Given the description of an element on the screen output the (x, y) to click on. 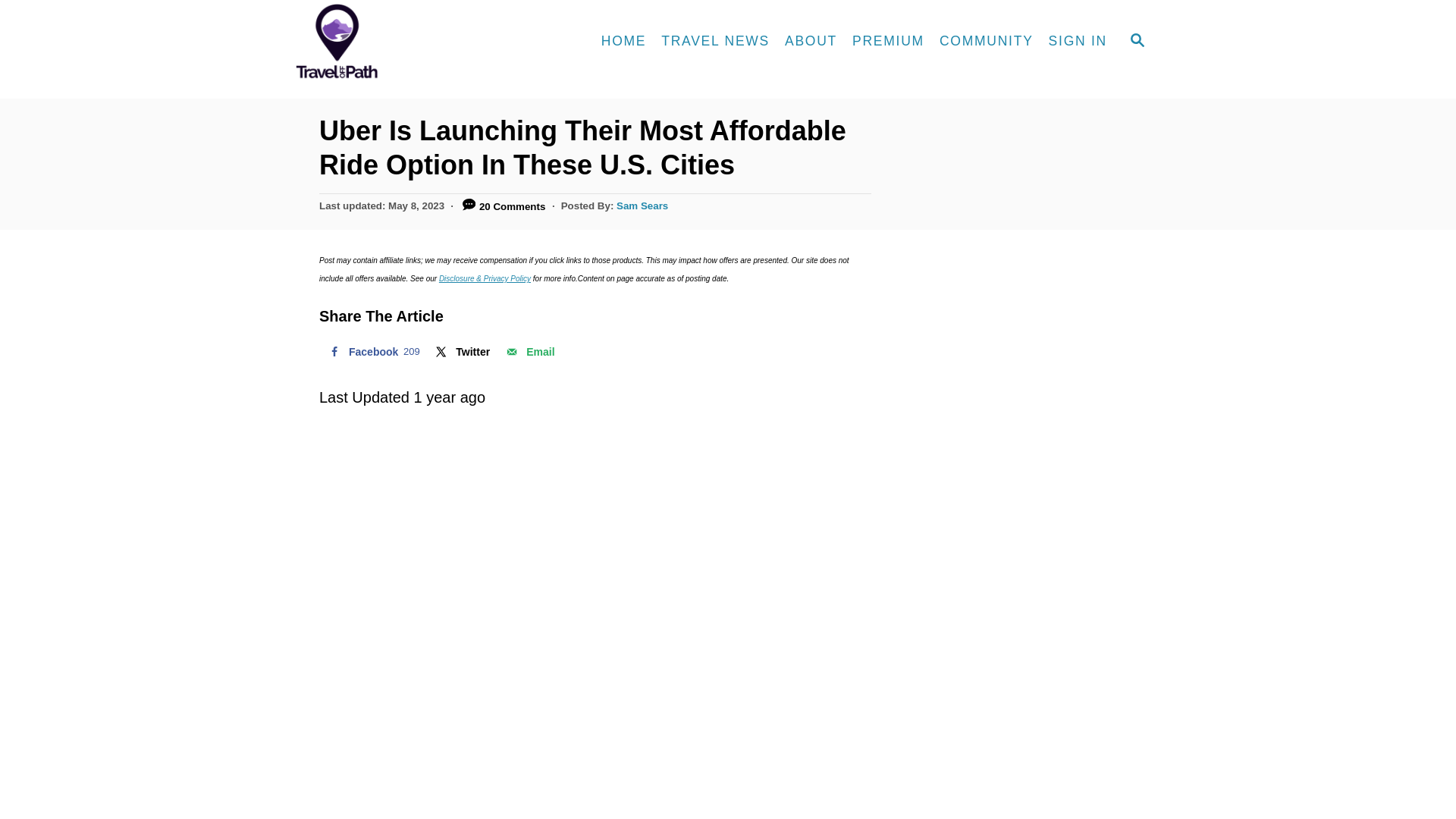
TRAVEL NEWS (715, 41)
Send over email (528, 351)
Share on Facebook (372, 351)
PREMIUM (887, 41)
HOME (623, 41)
Twitter (461, 351)
SEARCH (1137, 40)
Share on X (461, 351)
COMMUNITY (372, 351)
